Given the description of an element on the screen output the (x, y) to click on. 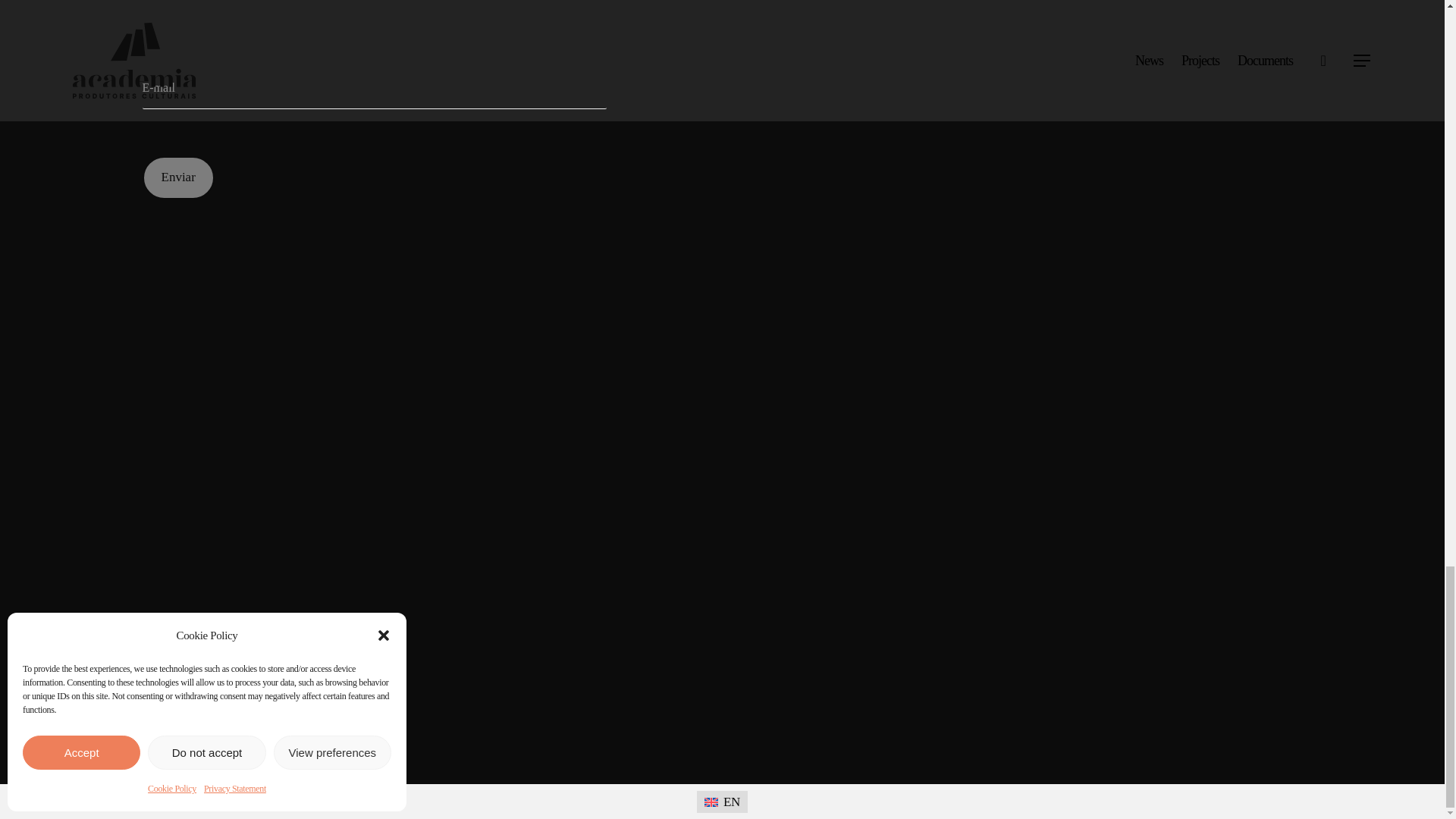
Enviar (178, 177)
